Given the description of an element on the screen output the (x, y) to click on. 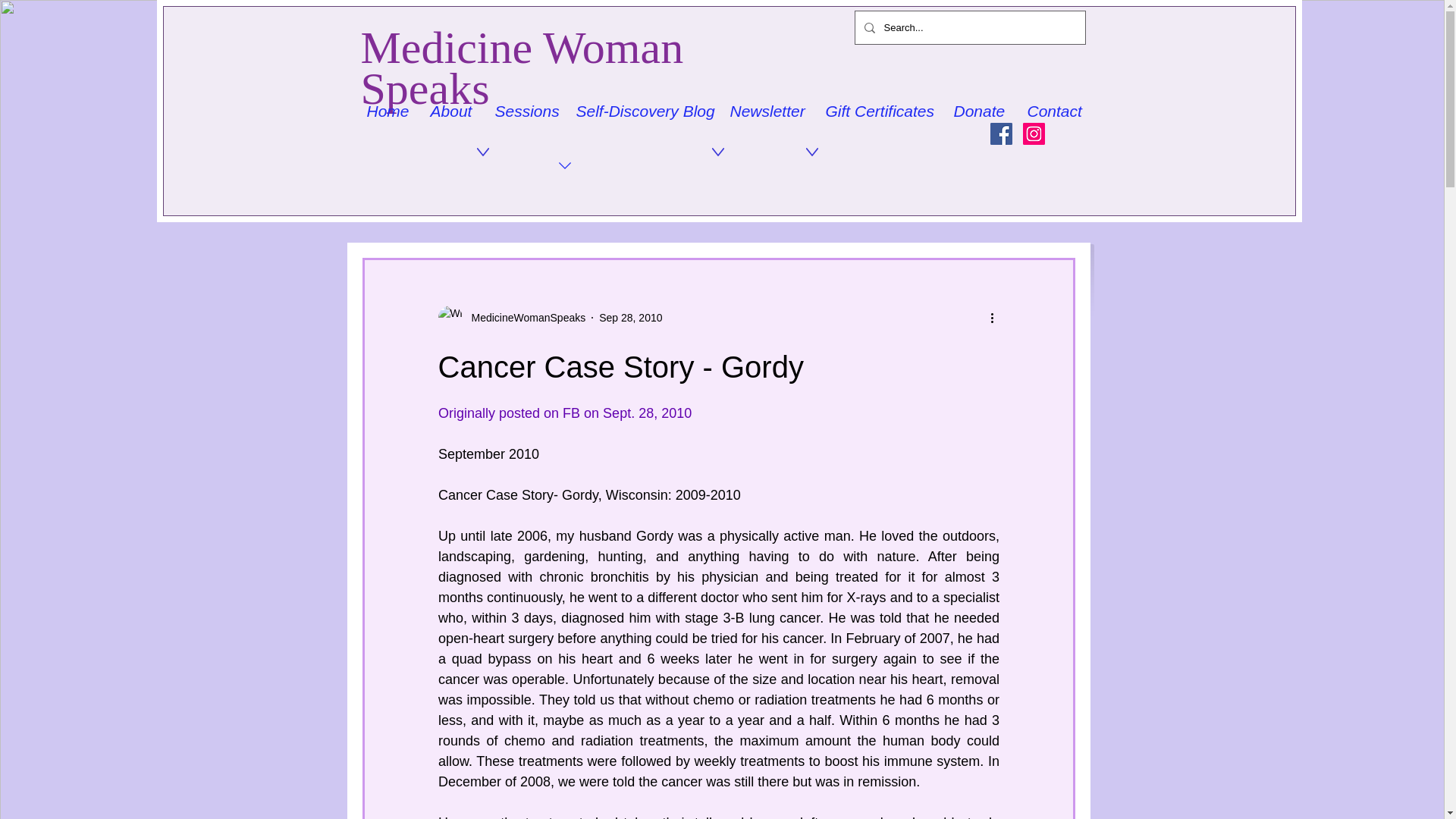
Home (387, 110)
MedicineWomanSpeaks (524, 317)
Sep 28, 2010 (630, 316)
Gift Certificates (877, 110)
Medicine Woman Speaks (522, 67)
Donate (978, 110)
